Given the description of an element on the screen output the (x, y) to click on. 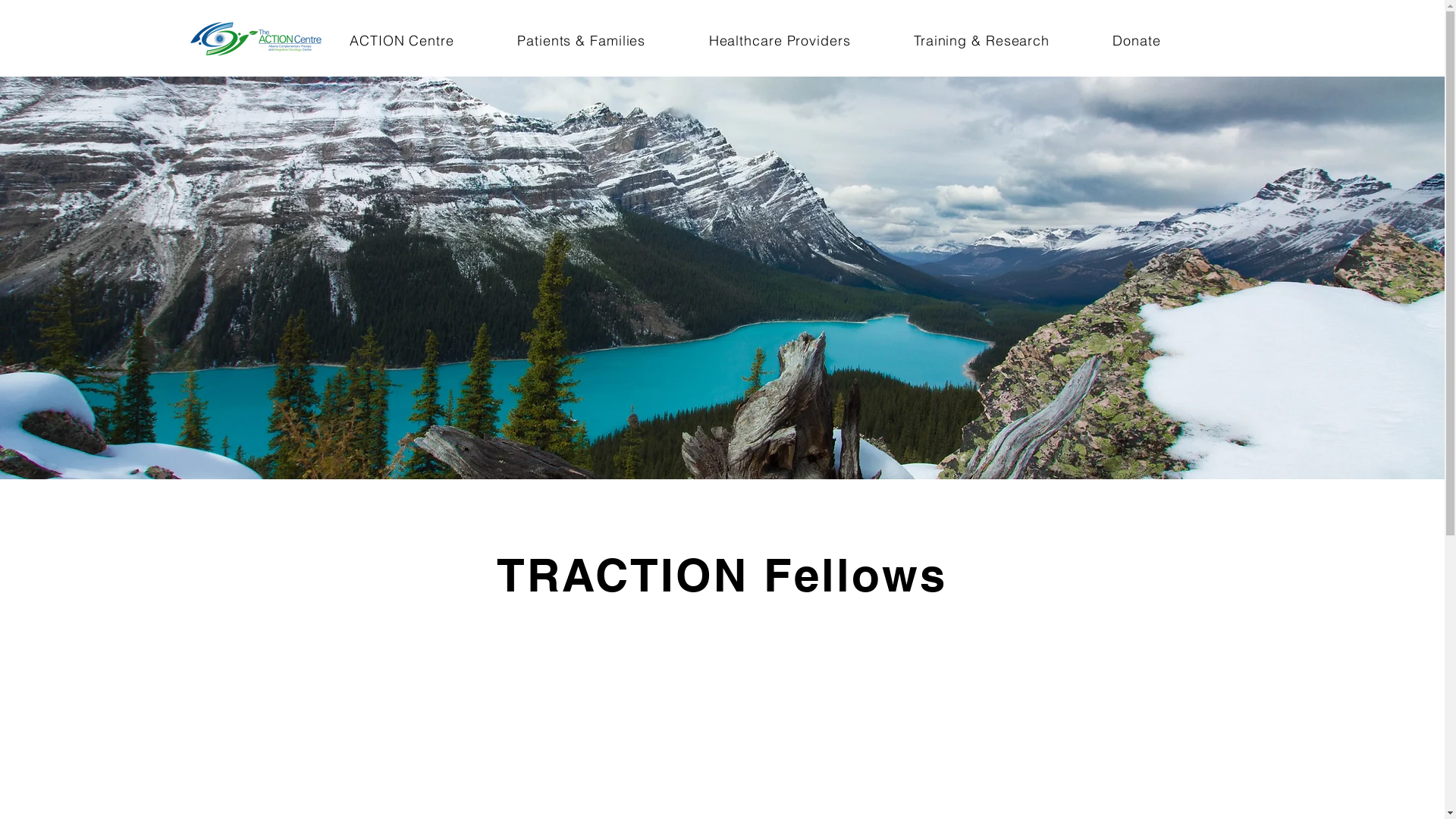
Donate Element type: text (1136, 40)
Healthcare Providers Element type: text (779, 40)
ACTION logo.png Element type: hover (255, 37)
Training & Research Element type: text (980, 40)
ACTION Centre Element type: text (402, 40)
Patients & Families Element type: text (581, 40)
